Given the description of an element on the screen output the (x, y) to click on. 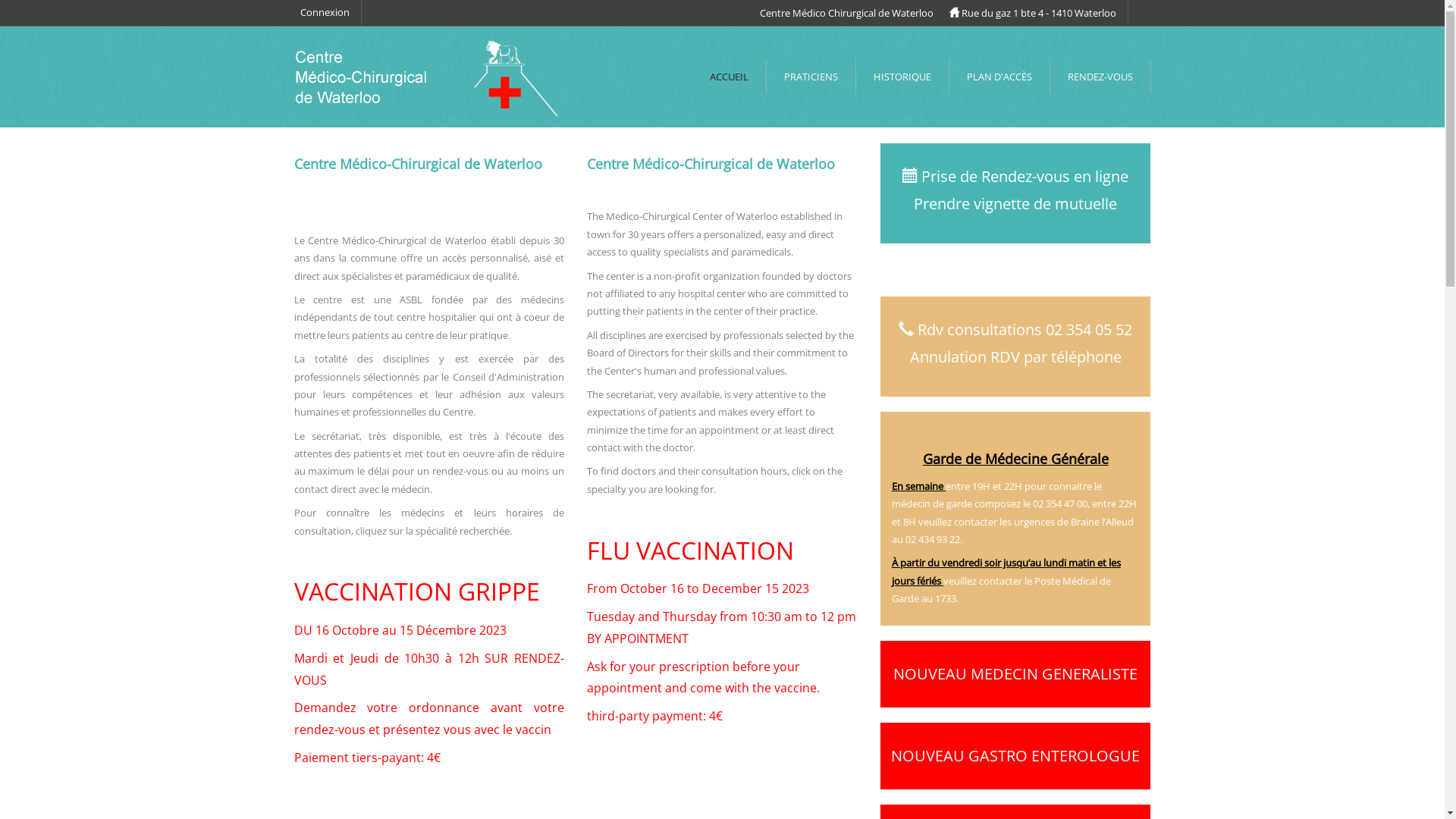
RENDEZ-VOUS Element type: text (1099, 76)
CMC Waterloo Element type: hover (429, 75)
Prise de Rendez-vous en ligne Element type: text (1024, 176)
ACCUEIL Element type: text (728, 76)
Connexion Element type: text (324, 11)
HISTORIQUE Element type: text (901, 76)
PRATICIENS Element type: text (810, 76)
